Given the description of an element on the screen output the (x, y) to click on. 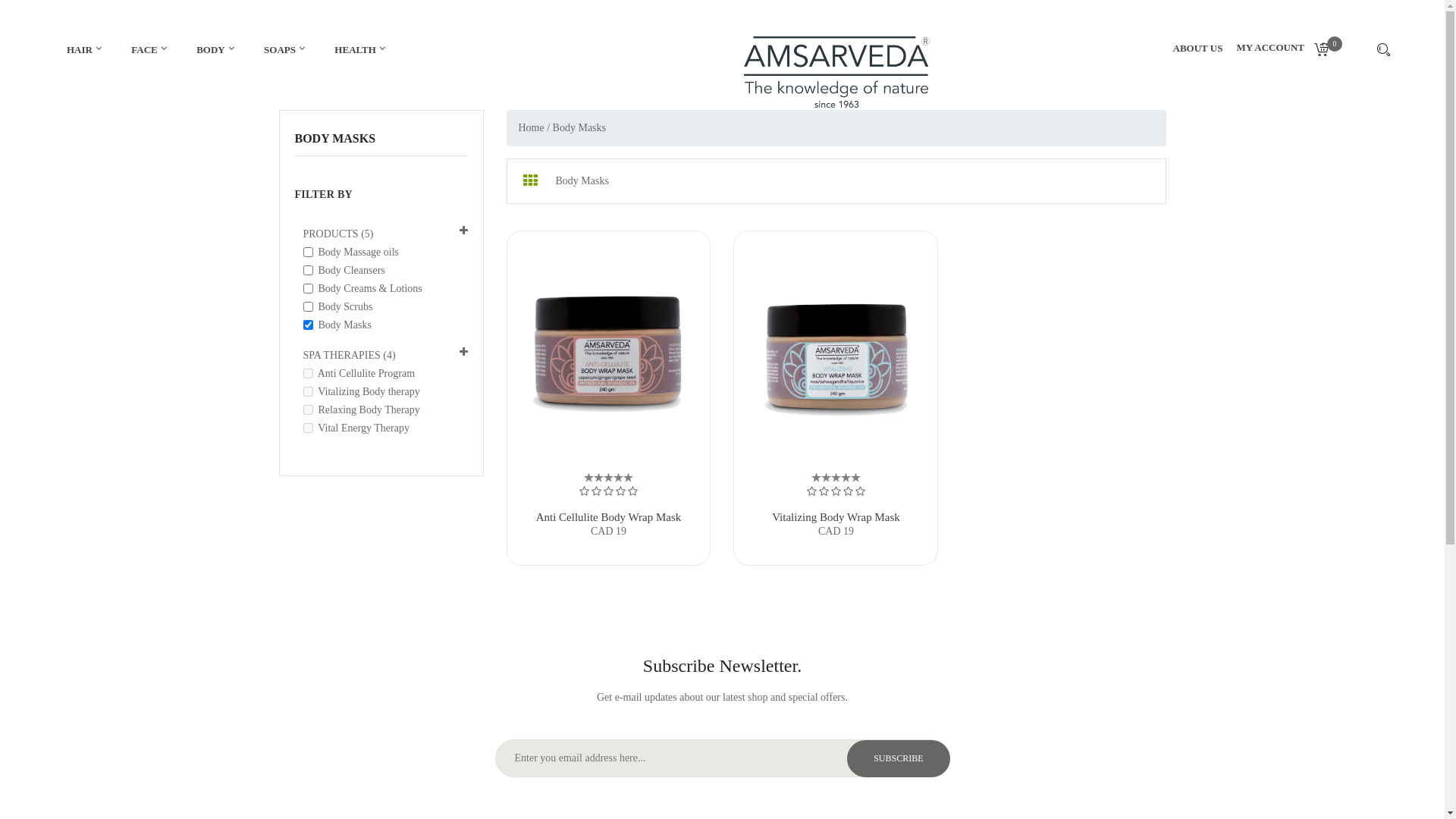
SUBSCRIBE Element type: text (898, 758)
Anti Cellulite Body Wrap Mask Element type: text (608, 517)
MY ACCOUNT Element type: text (1270, 53)
ABOUT US Element type: text (1195, 47)
BODY Element type: text (213, 50)
FACE Element type: text (147, 50)
Vitalizing Body Wrap Mask Element type: text (835, 517)
Home Element type: text (531, 128)
HAIR Element type: text (82, 50)
HEALTH Element type: text (357, 50)
SOAPS Element type: text (282, 50)
0 Element type: text (1326, 50)
